Given the description of an element on the screen output the (x, y) to click on. 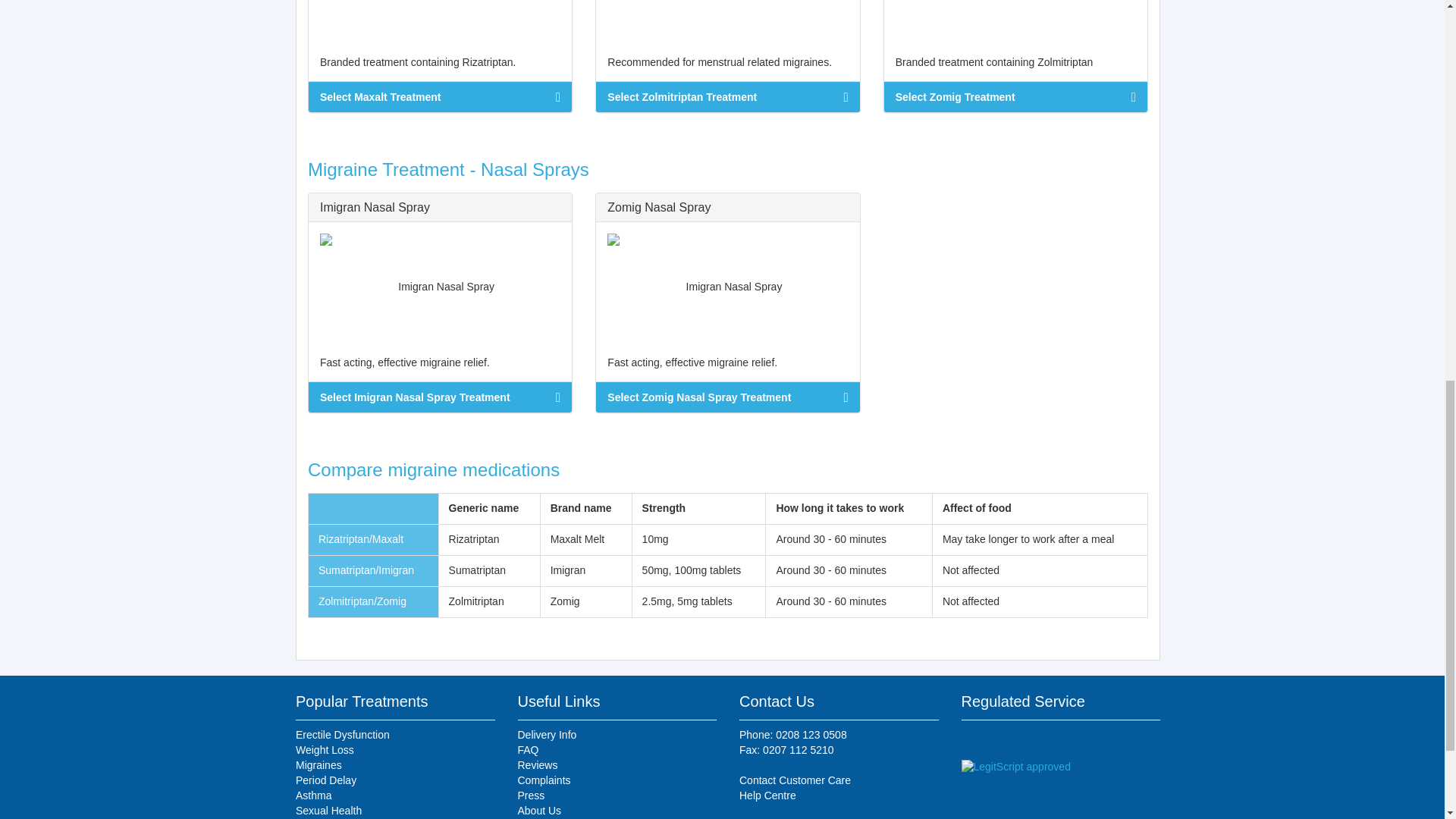
FAQ (616, 750)
Erectile Dysfunction (395, 735)
Sexual Health (395, 811)
Reviews (616, 765)
Migraines (395, 765)
Asthma (395, 795)
Verify LegitScript Approval (1015, 766)
Complaints (616, 780)
Delivery Info (616, 735)
Weight Loss (395, 750)
